Given the description of an element on the screen output the (x, y) to click on. 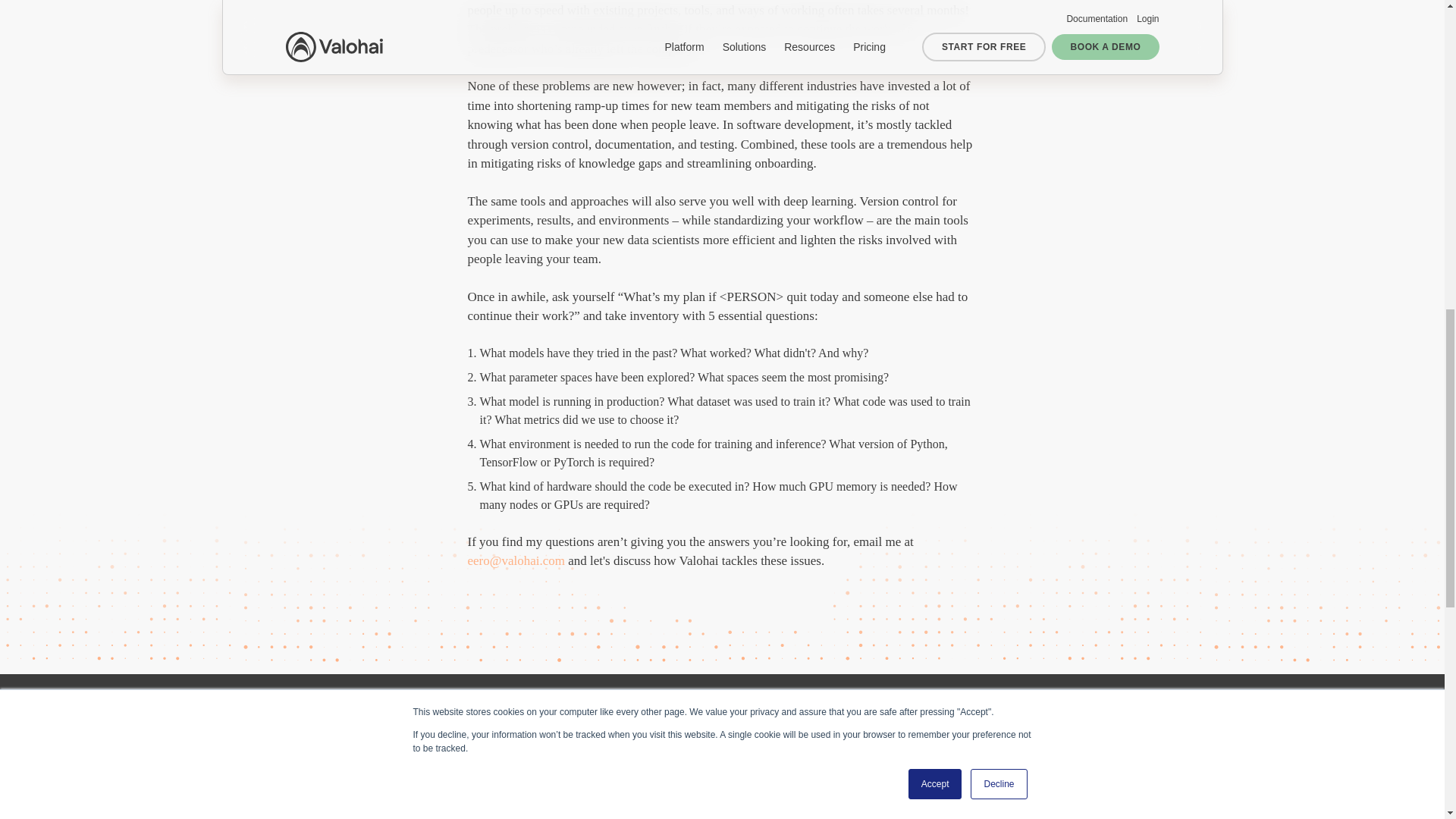
How to Ensure Traceability and Eliminate Data Inconsistency (810, 727)
Large Language Models for the Rest of Us (380, 804)
Download the Free eBook! (122, 249)
Why closed-source LLMs are not suited for production (382, 727)
Enjoy Hugging Face's model library with Valohai's templates (597, 727)
LLMOps: MLOps for Large Language Models (603, 804)
Modern web scraping pipeline for ML (826, 795)
